Given the description of an element on the screen output the (x, y) to click on. 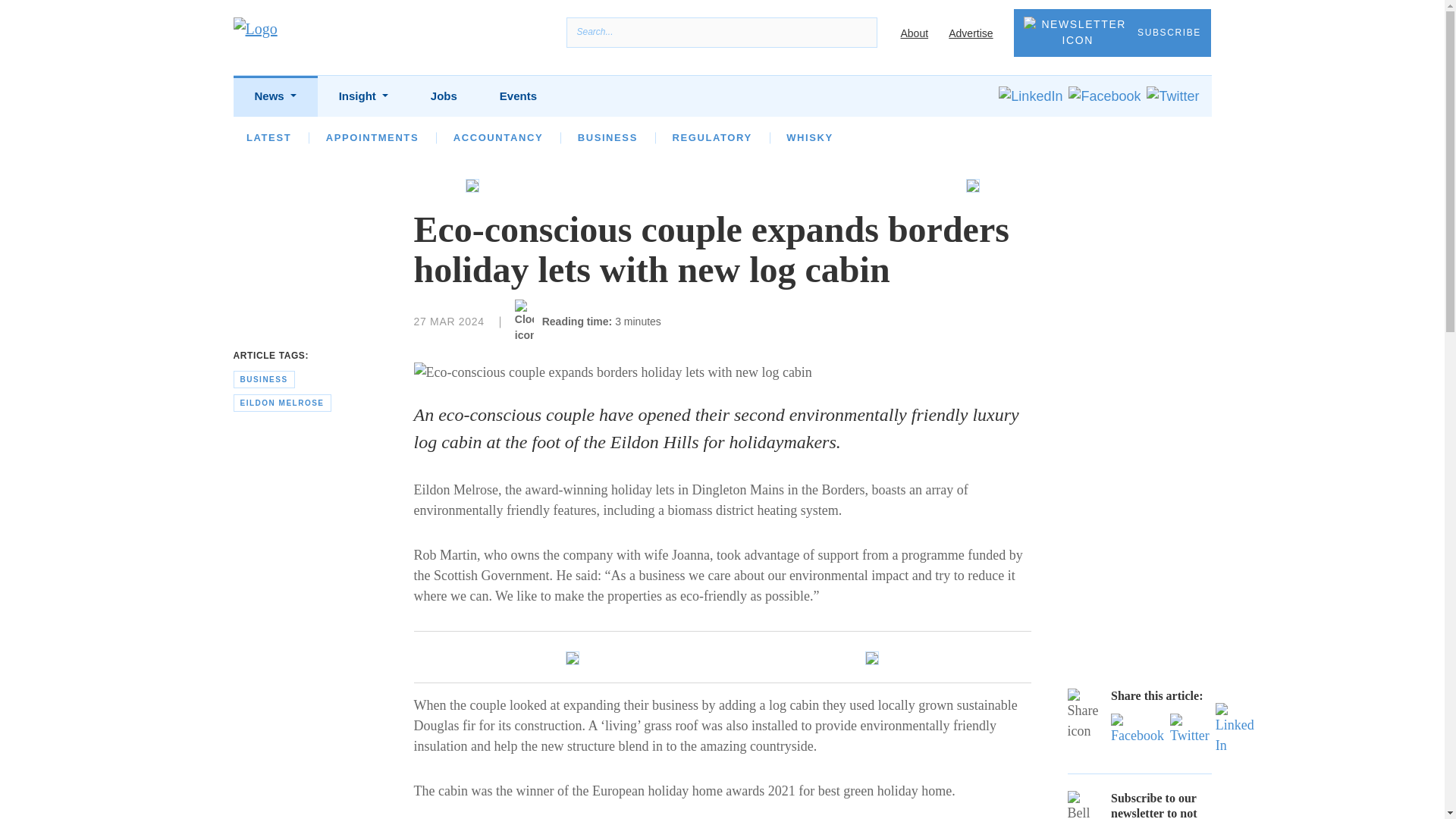
Events (518, 96)
Advertise (970, 33)
REGULATORY (711, 137)
Insight (363, 96)
SUBSCRIBE (1112, 32)
Jobs (444, 96)
BUSINESS (607, 137)
WHISKY (809, 137)
APPOINTMENTS (372, 137)
LATEST (268, 137)
About (913, 33)
OPINION (350, 137)
INTERVIEWS (446, 137)
ACCOUNTANCY (497, 137)
News (274, 96)
